Given the description of an element on the screen output the (x, y) to click on. 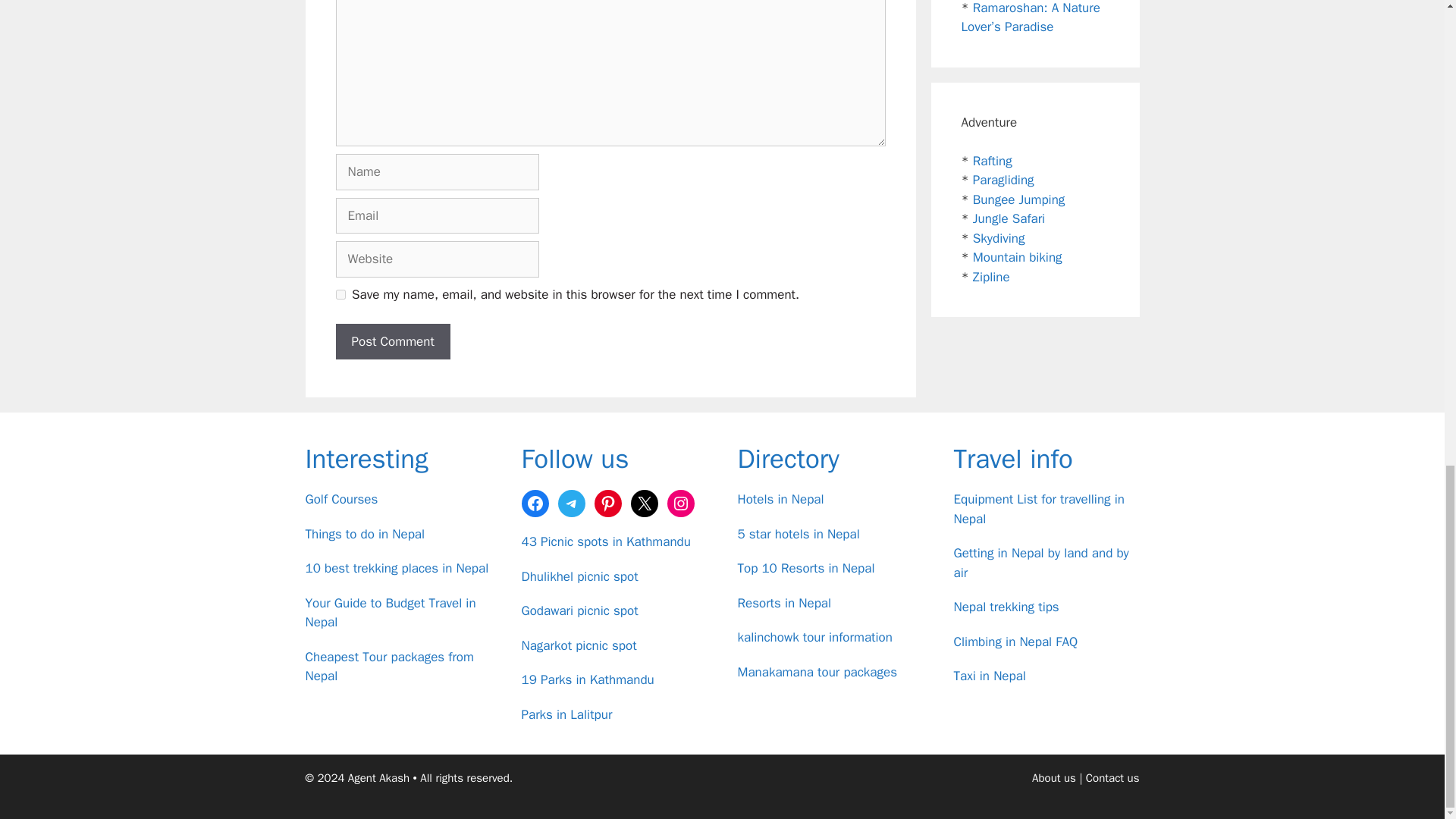
Post Comment (391, 341)
yes (339, 294)
Scroll back to top (1406, 450)
Post Comment (391, 341)
